Given the description of an element on the screen output the (x, y) to click on. 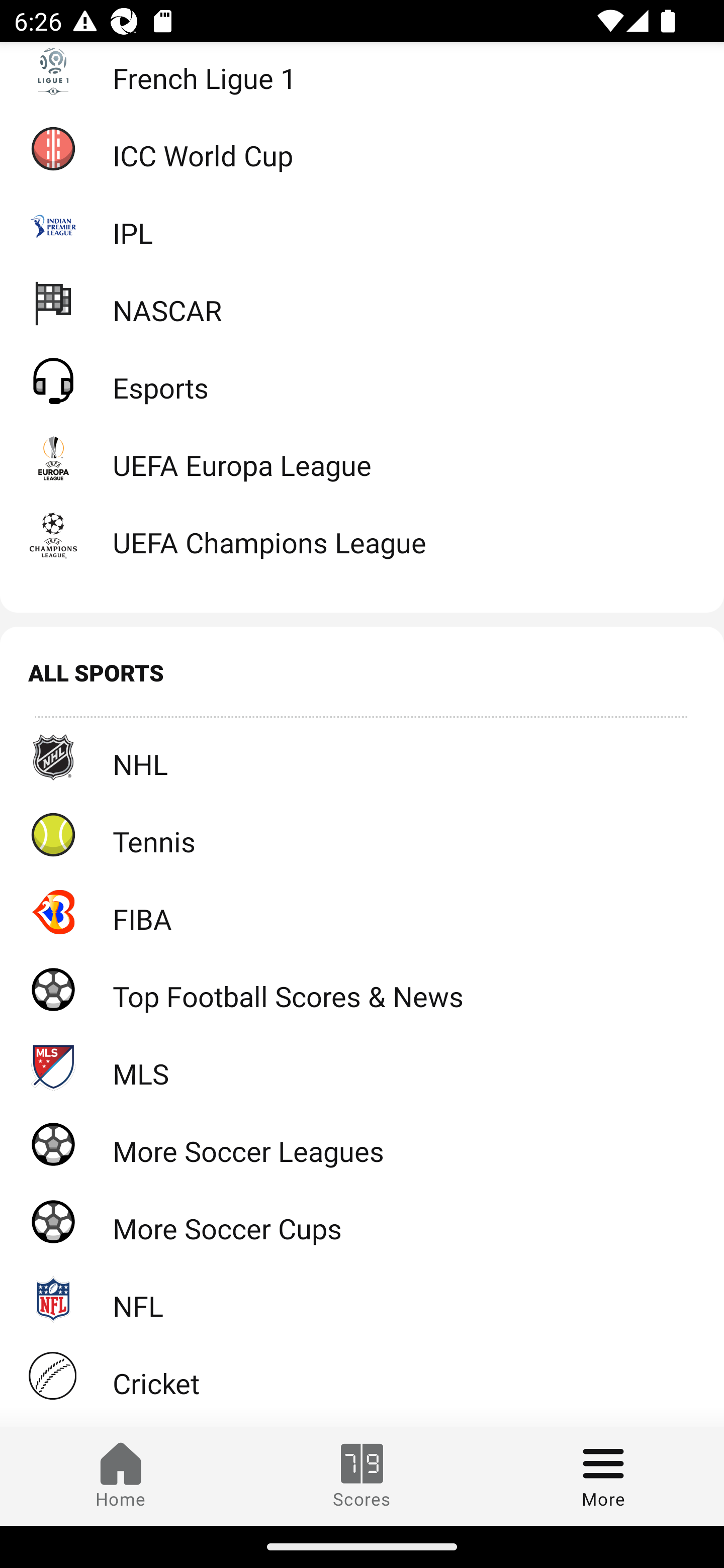
French Ligue 1 (362, 75)
ICC World Cup (362, 147)
IPL (362, 225)
NASCAR (362, 302)
Esports (362, 379)
UEFA Europa League (362, 457)
UEFA Champions League (362, 535)
NHL (362, 756)
Tennis (362, 833)
FIBA  (362, 911)
Top Football Scores & News (362, 988)
MLS (362, 1066)
More Soccer Leagues (362, 1143)
More Soccer Cups (362, 1221)
NFL (362, 1298)
Cricket G Cricket (362, 1375)
Home (120, 1475)
Scores (361, 1475)
